Given the description of an element on the screen output the (x, y) to click on. 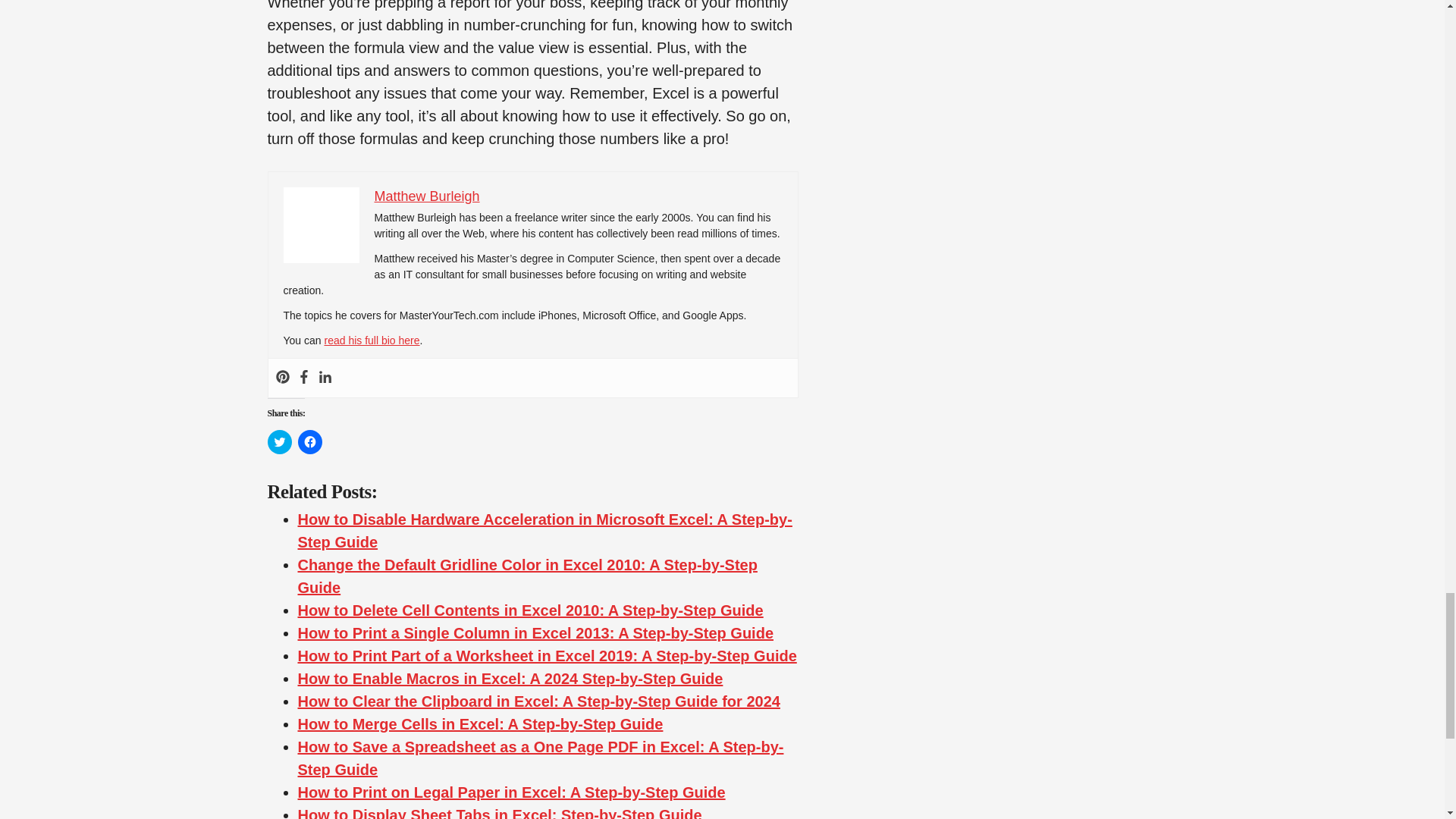
read his full bio here (371, 340)
How to Display Sheet Tabs in Excel: Step-by-Step Guide (499, 812)
How to Enable Macros in Excel: A 2024 Step-by-Step Guide (509, 678)
How to Merge Cells in Excel: A Step-by-Step Guide (479, 723)
Matthew Burleigh (427, 196)
